Given the description of an element on the screen output the (x, y) to click on. 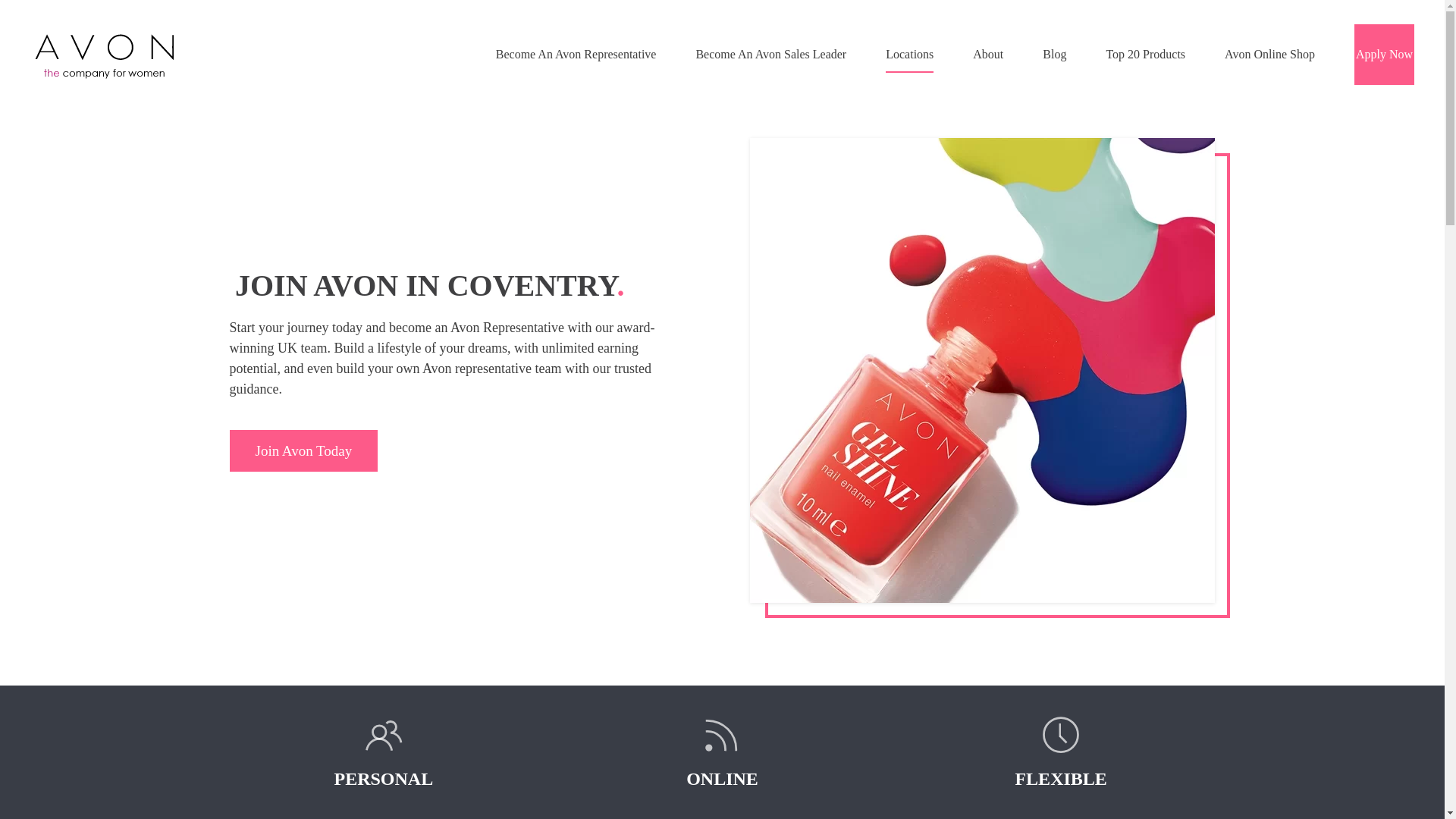
Become An Avon Sales Leader (770, 54)
Explore (302, 450)
Become An Avon Representative (576, 54)
Join Avon Today (461, 450)
Top 20 Products (1145, 54)
JOIN AVON IN COVENTRY. (462, 285)
